Given the description of an element on the screen output the (x, y) to click on. 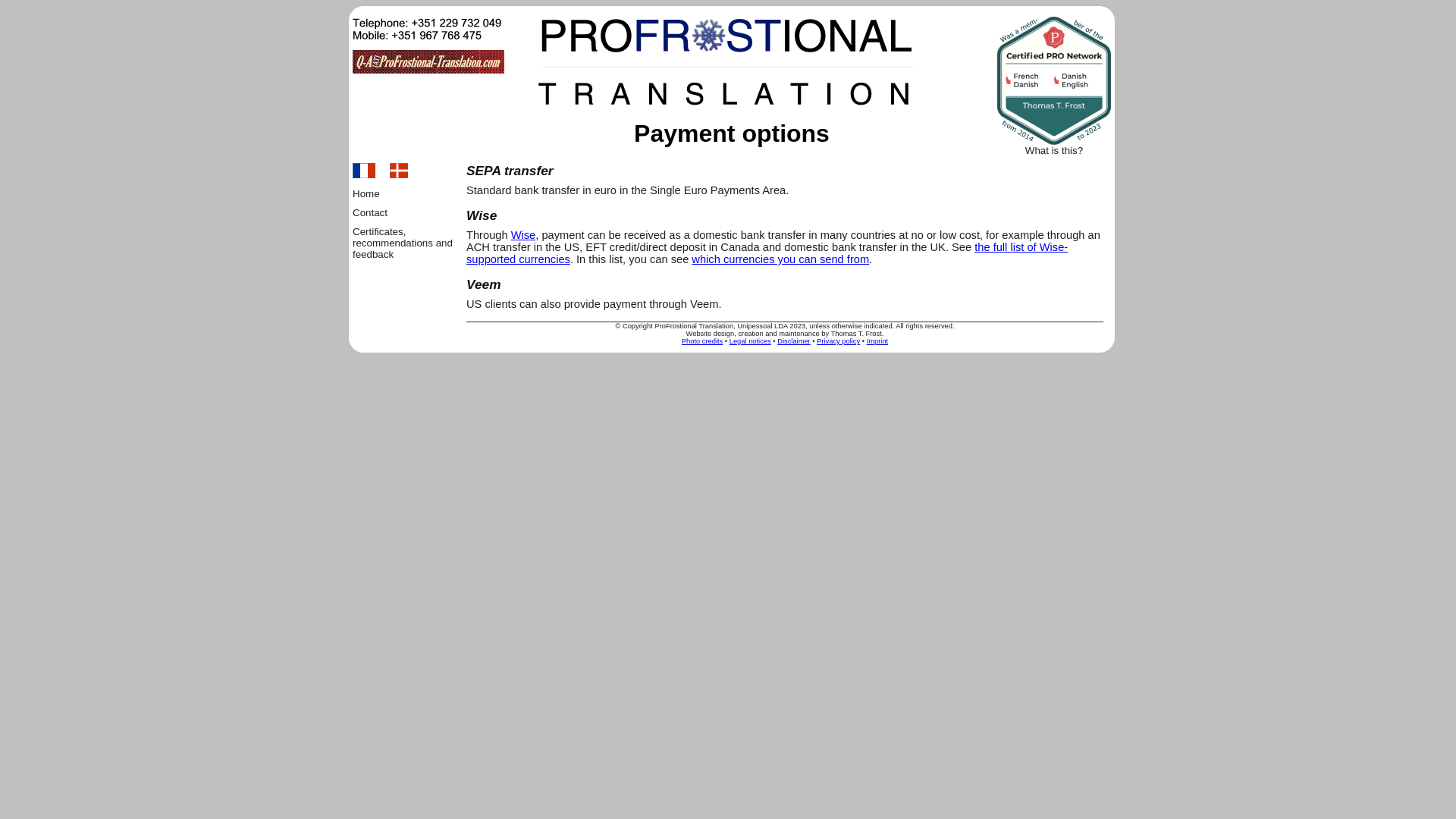
the full list of Wise-supported currencies (766, 252)
Photo credits (701, 340)
Wise (523, 234)
Disclaimer (793, 340)
What is this? (1054, 150)
Imprint (877, 340)
Legal notices (750, 340)
Home (366, 193)
which currencies you can send from (780, 259)
Privacy policy (838, 340)
Certificates, recommendations and feedback (402, 243)
Contact (369, 212)
